Given the description of an element on the screen output the (x, y) to click on. 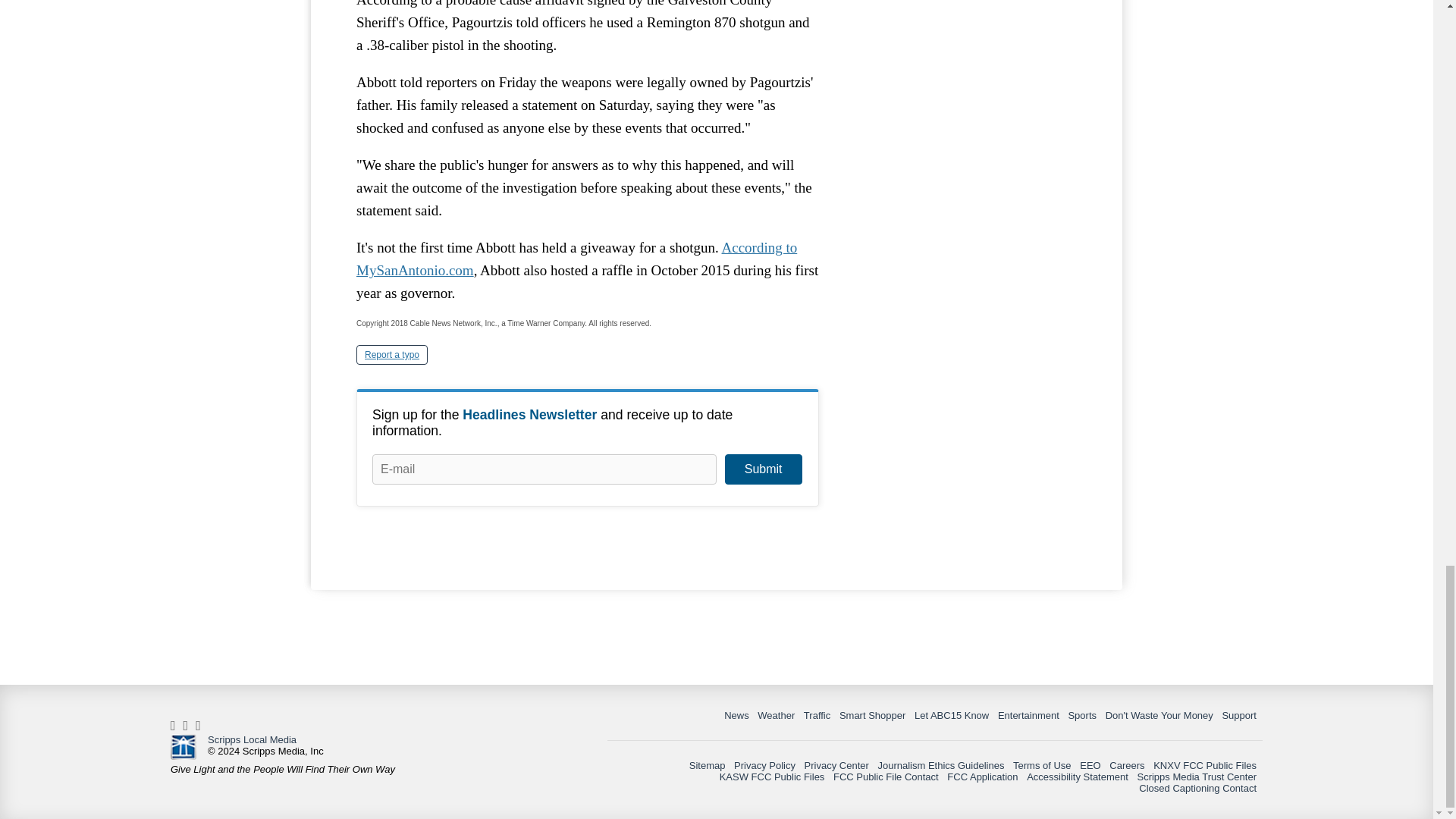
Submit (763, 469)
